Given the description of an element on the screen output the (x, y) to click on. 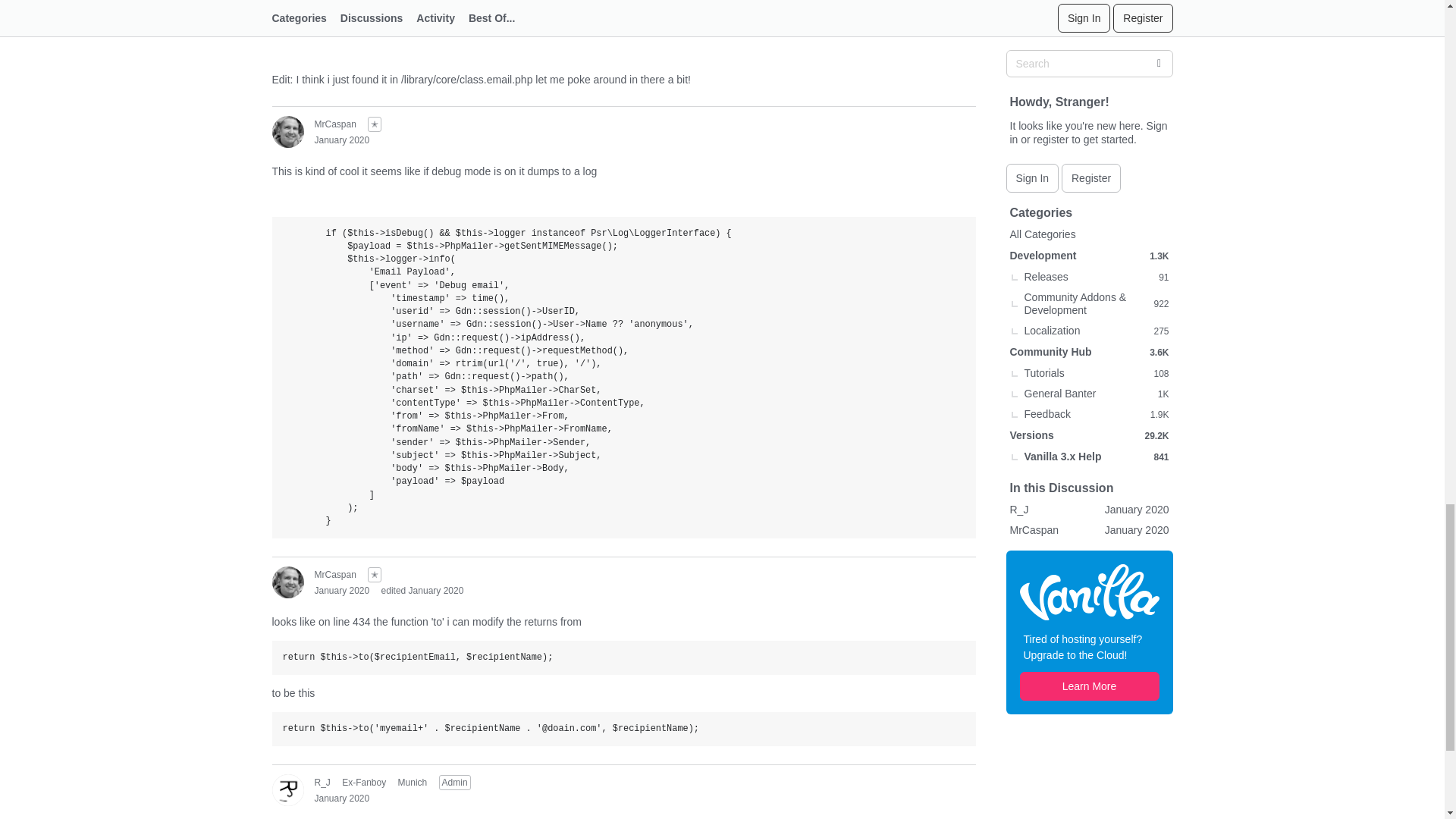
MrCaspan (286, 1)
